Given the description of an element on the screen output the (x, y) to click on. 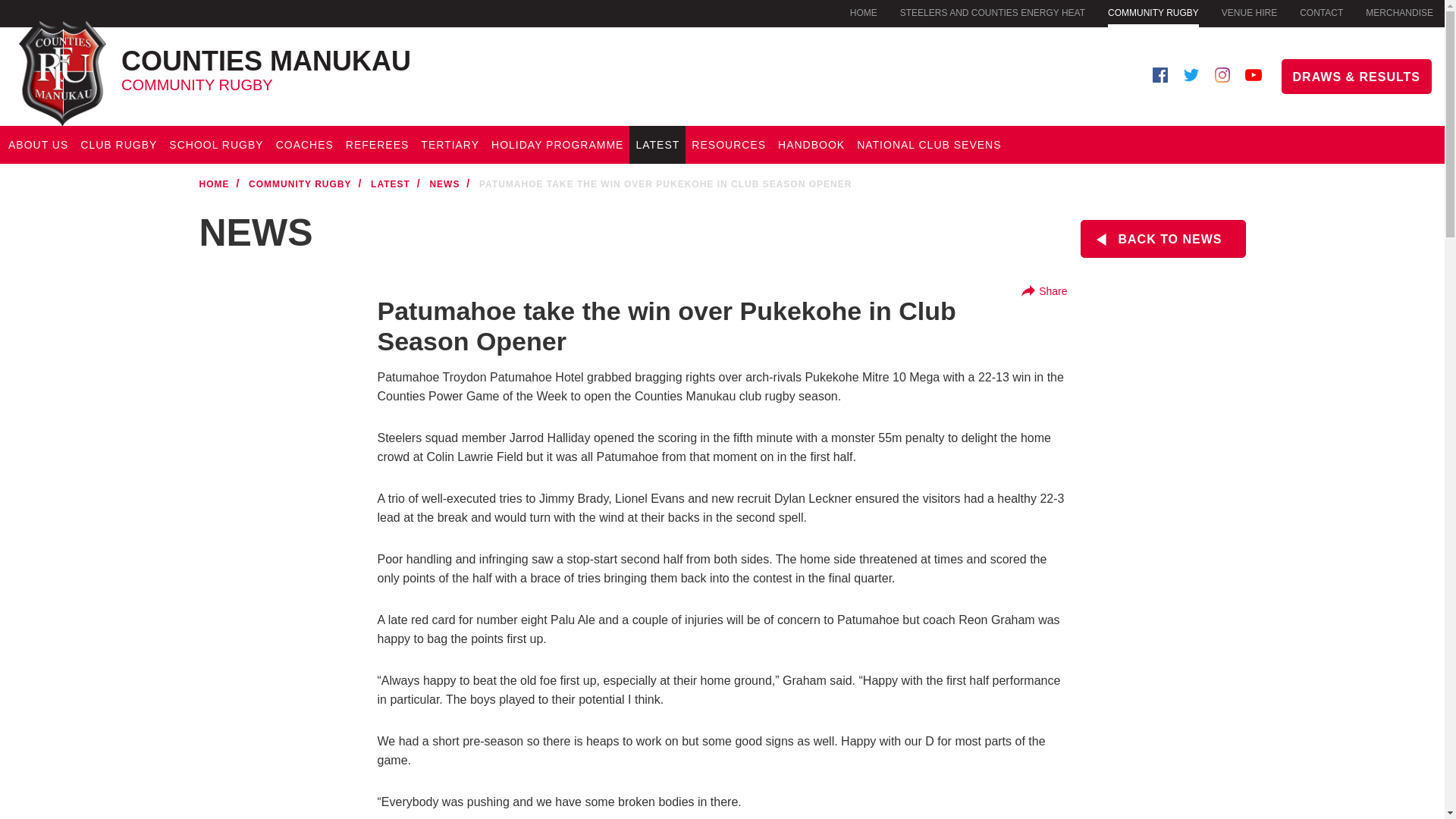
STEELERS AND COUNTIES ENERGY HEAT (991, 12)
CLUB RUGBY (118, 144)
ABOUT US (364, 63)
MERCHANDISE (38, 144)
SCHOOL RUGBY (1398, 12)
VENUE HIRE (216, 144)
COMMUNITY RUGBY (1248, 12)
CONTACT (1153, 13)
HOME (1321, 12)
